Given the description of an element on the screen output the (x, y) to click on. 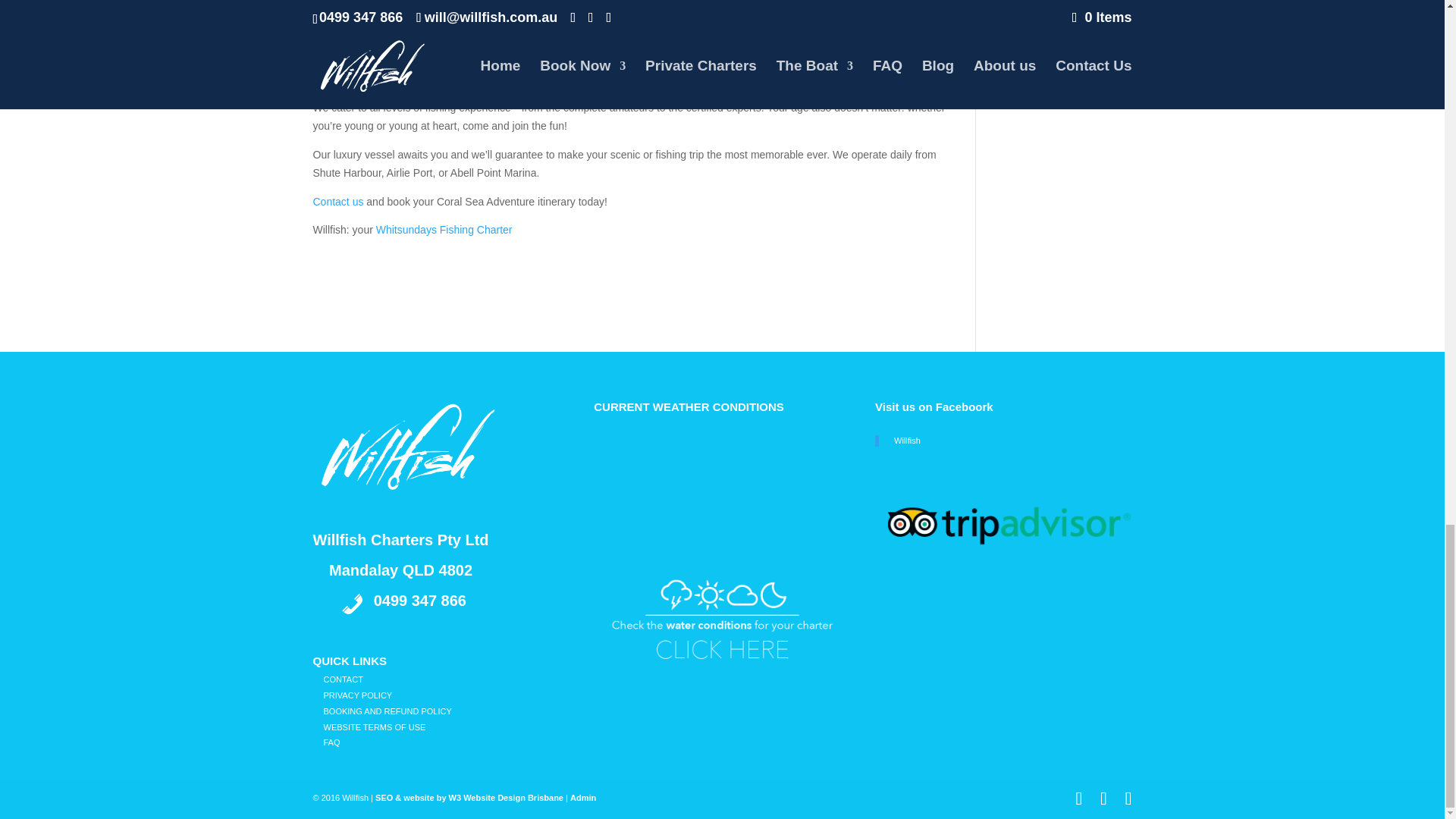
0499 347 866 (419, 600)
Airlie Beach Weather (707, 525)
Whitsundays Fishing Charter (442, 229)
CONTACT (342, 678)
WEBSITE TERMS OF USE (374, 727)
FAQ (331, 741)
Contact us (337, 201)
PRIVACY POLICY (357, 695)
SEO Brisbane (469, 797)
Willfish Login  (582, 797)
BOOKING AND REFUND POLICY (387, 710)
